Given the description of an element on the screen output the (x, y) to click on. 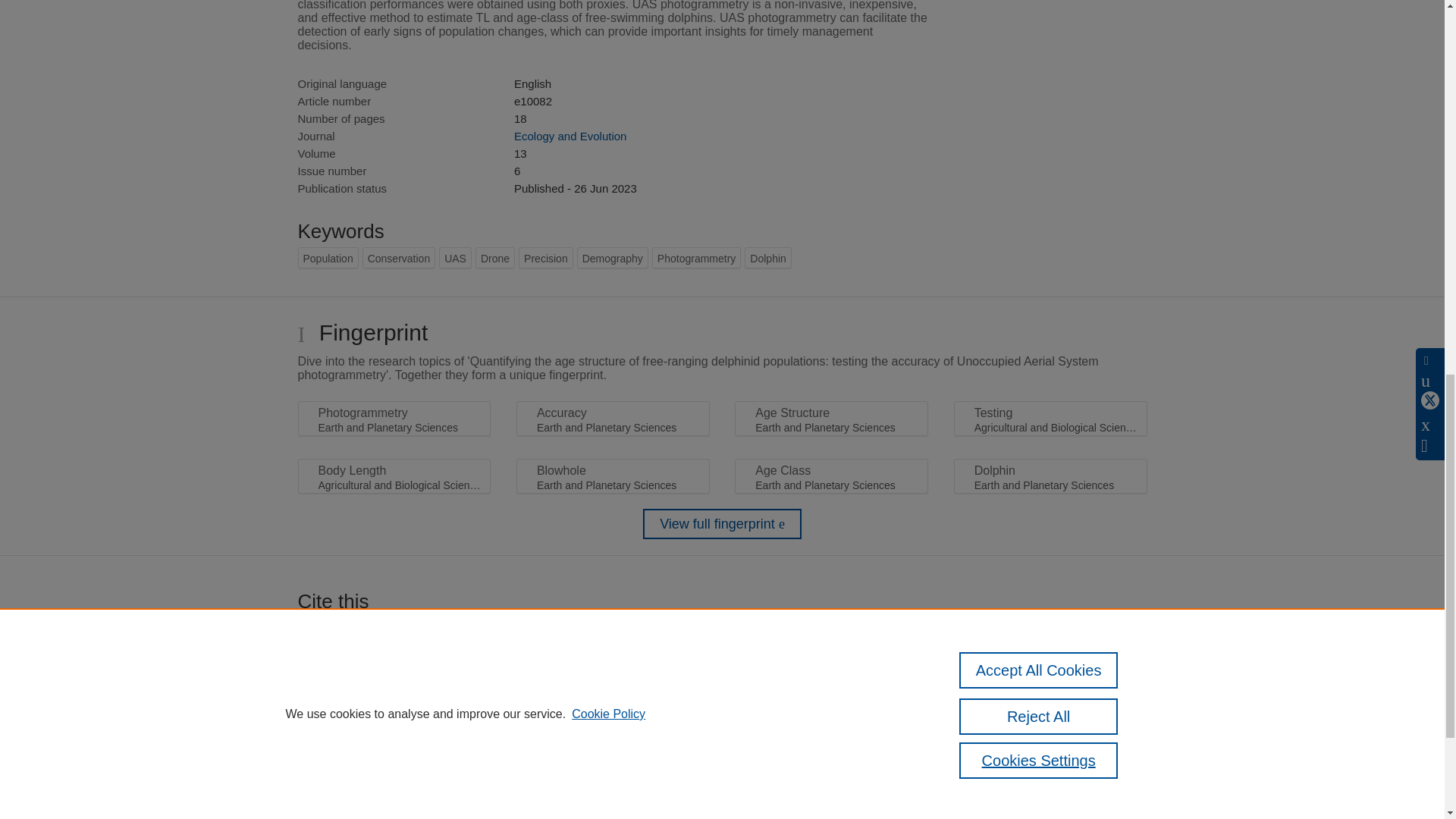
Ecology and Evolution (569, 135)
View full fingerprint (722, 523)
